Given the description of an element on the screen output the (x, y) to click on. 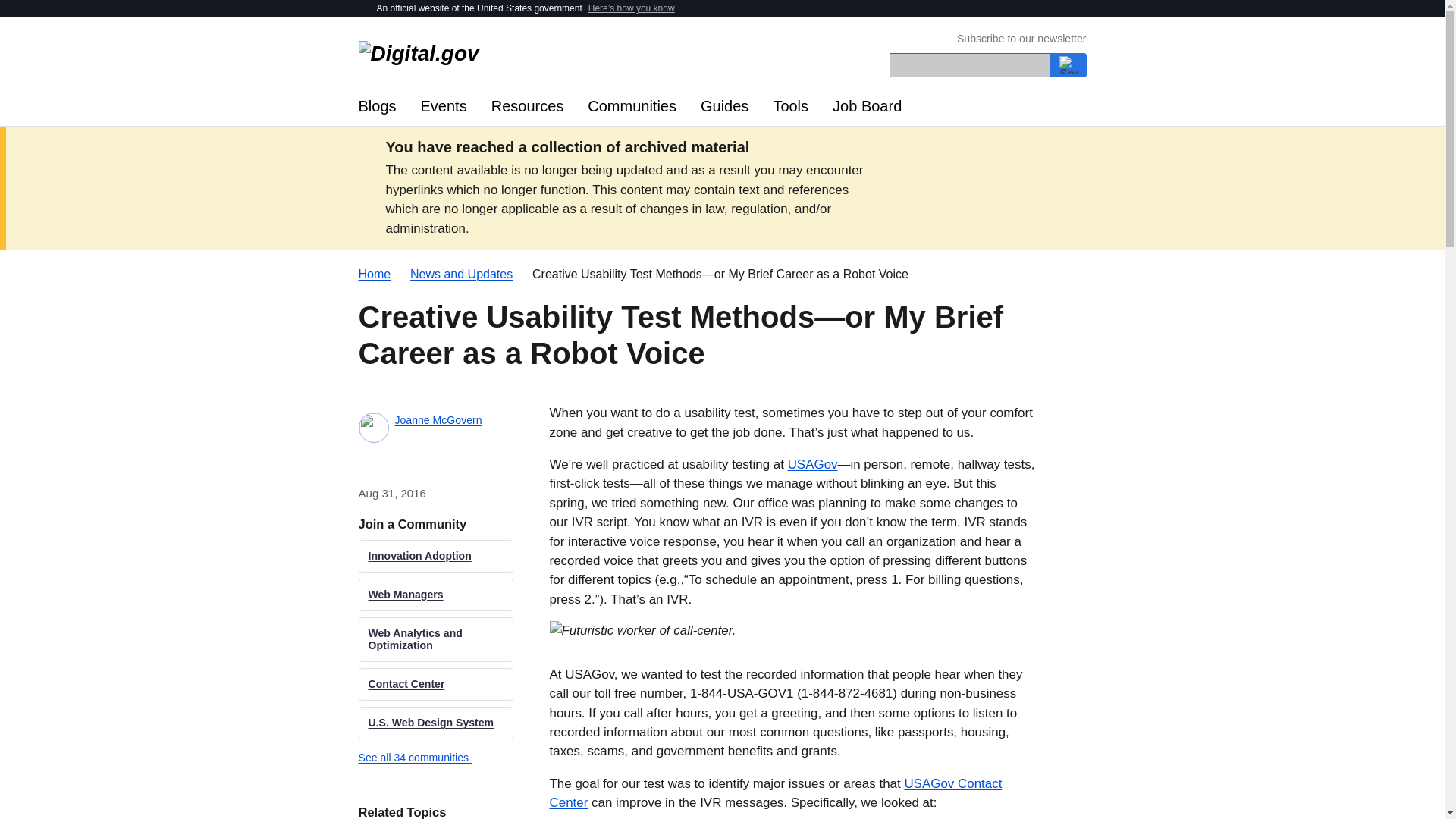
Visit Contact Center community page (435, 684)
Subscribe to our newsletter (1021, 38)
Communities (631, 106)
Job Board (867, 106)
Visit Web Managers community page (435, 594)
Digital.gov Home (540, 53)
Events (444, 106)
Visit Innovation Adoption community page (435, 555)
Innovation Adoption (435, 555)
USAGov (812, 464)
